Given the description of an element on the screen output the (x, y) to click on. 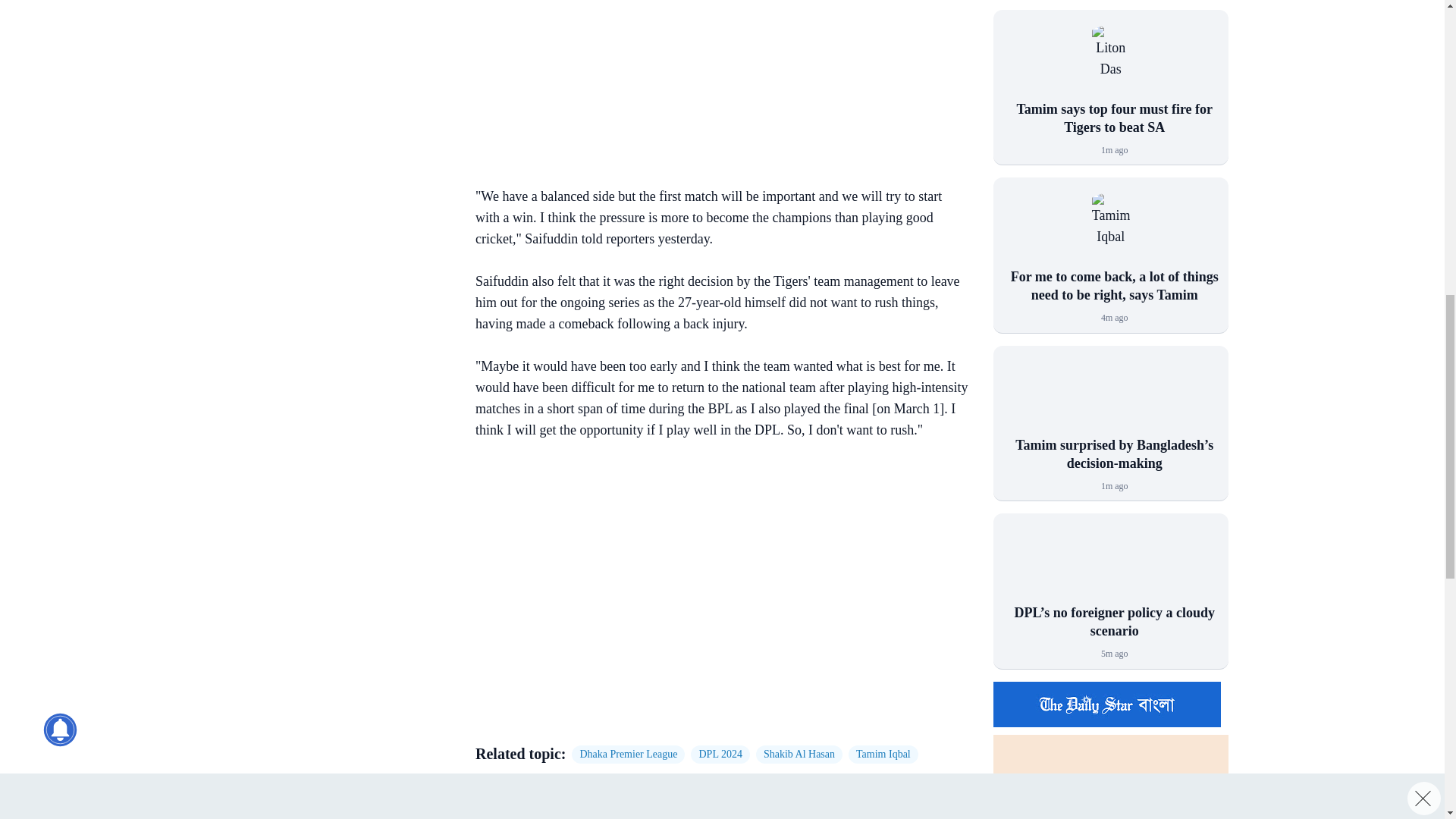
3rd party ad content (332, 33)
3rd party ad content (332, 177)
3rd party ad content (714, 696)
3rd party ad content (713, 556)
Liton Das (1110, 62)
3rd party ad content (713, 85)
